Given the description of an element on the screen output the (x, y) to click on. 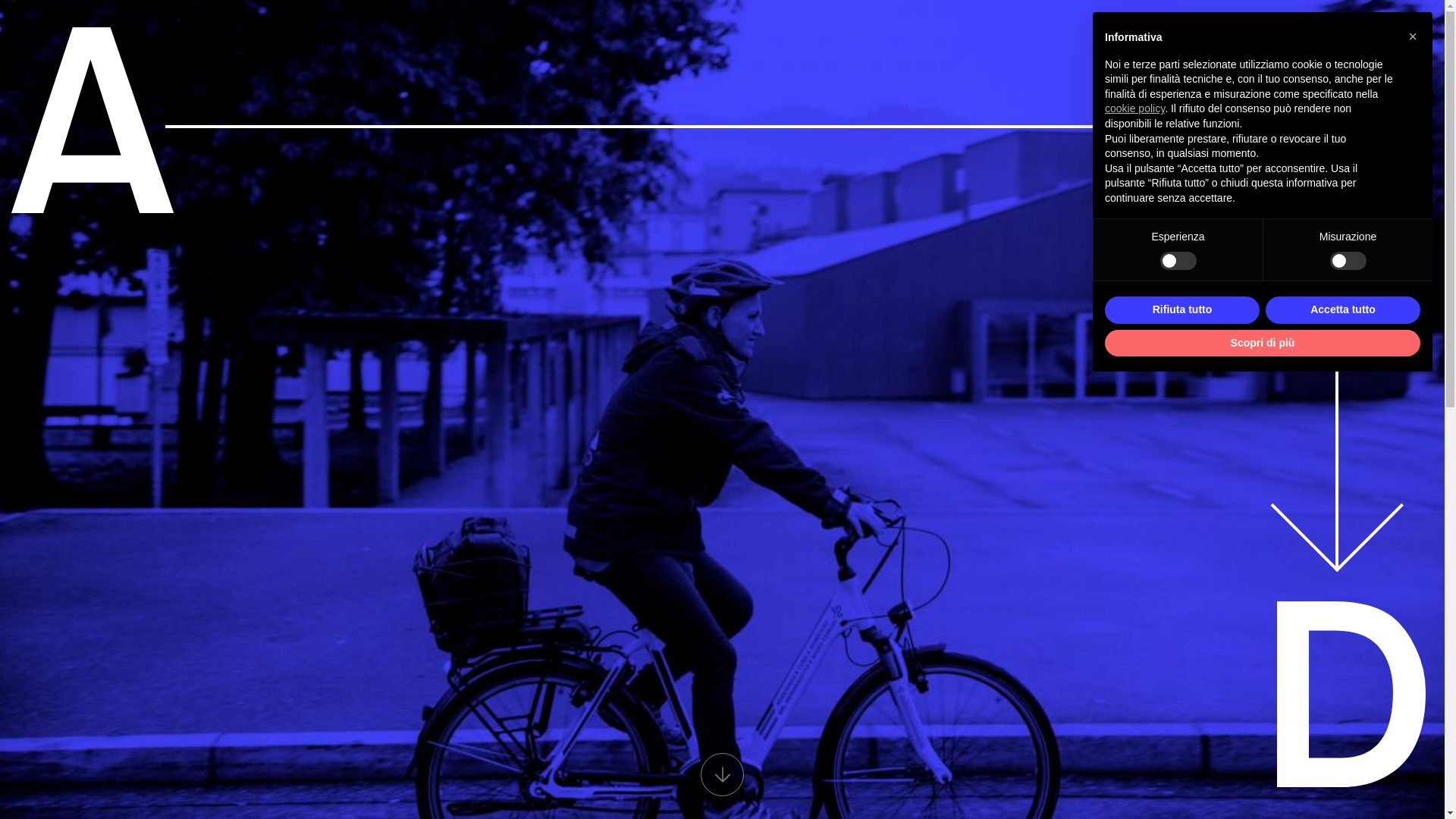
cookie policy Element type: text (1134, 108)
Salta al contenuto principale Element type: text (0, 0)
Rifiuta tutto Element type: text (1181, 309)
Accetta tutto Element type: text (1342, 309)
